Given the description of an element on the screen output the (x, y) to click on. 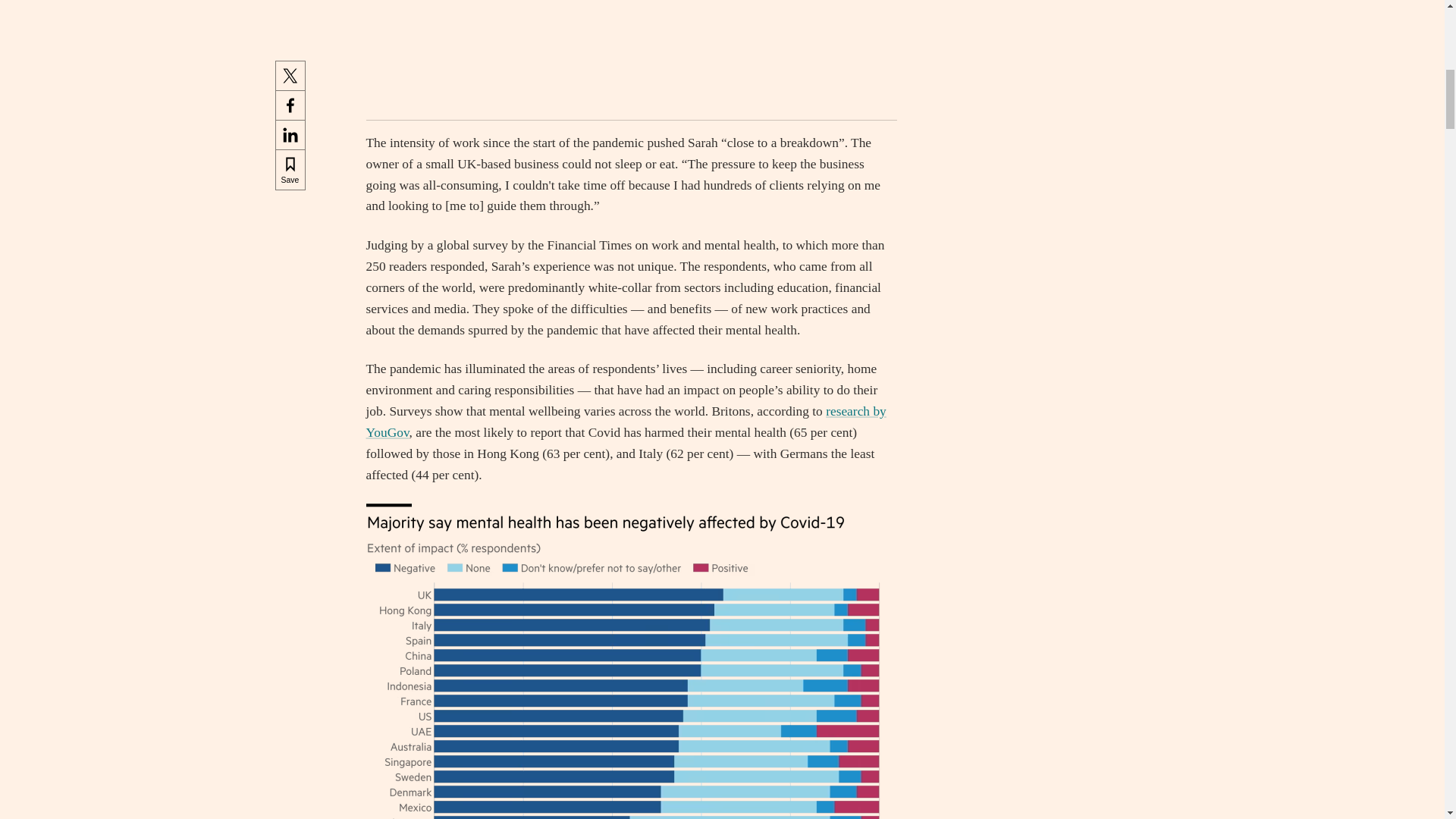
Save this article to myFT for later (289, 7)
